Given the description of an element on the screen output the (x, y) to click on. 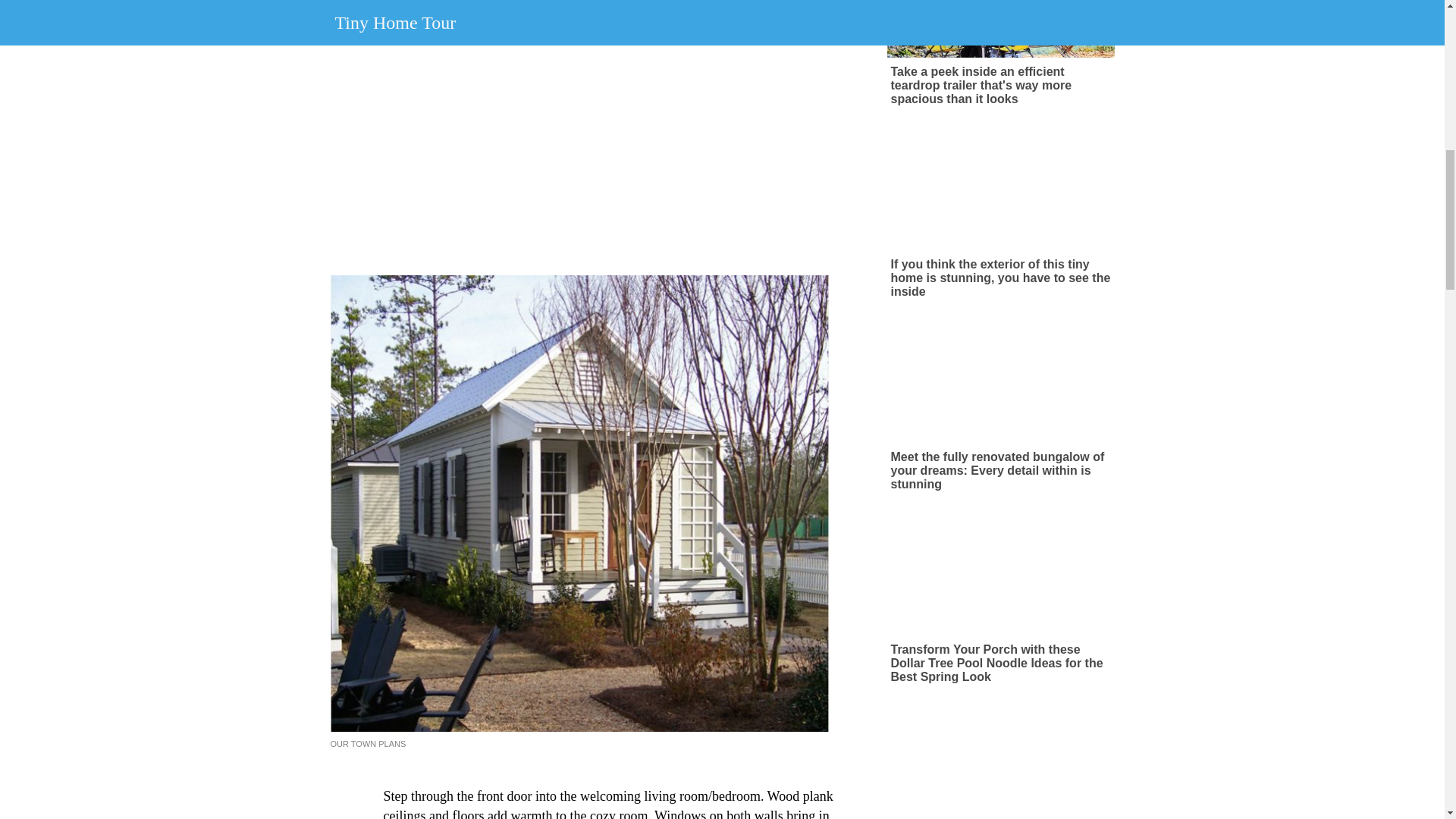
About Ads (646, 62)
Do Not Sell My Info (871, 62)
Terms of Use (711, 62)
Privacy Policy (784, 62)
OUR TOWN PLANS (368, 743)
